Given the description of an element on the screen output the (x, y) to click on. 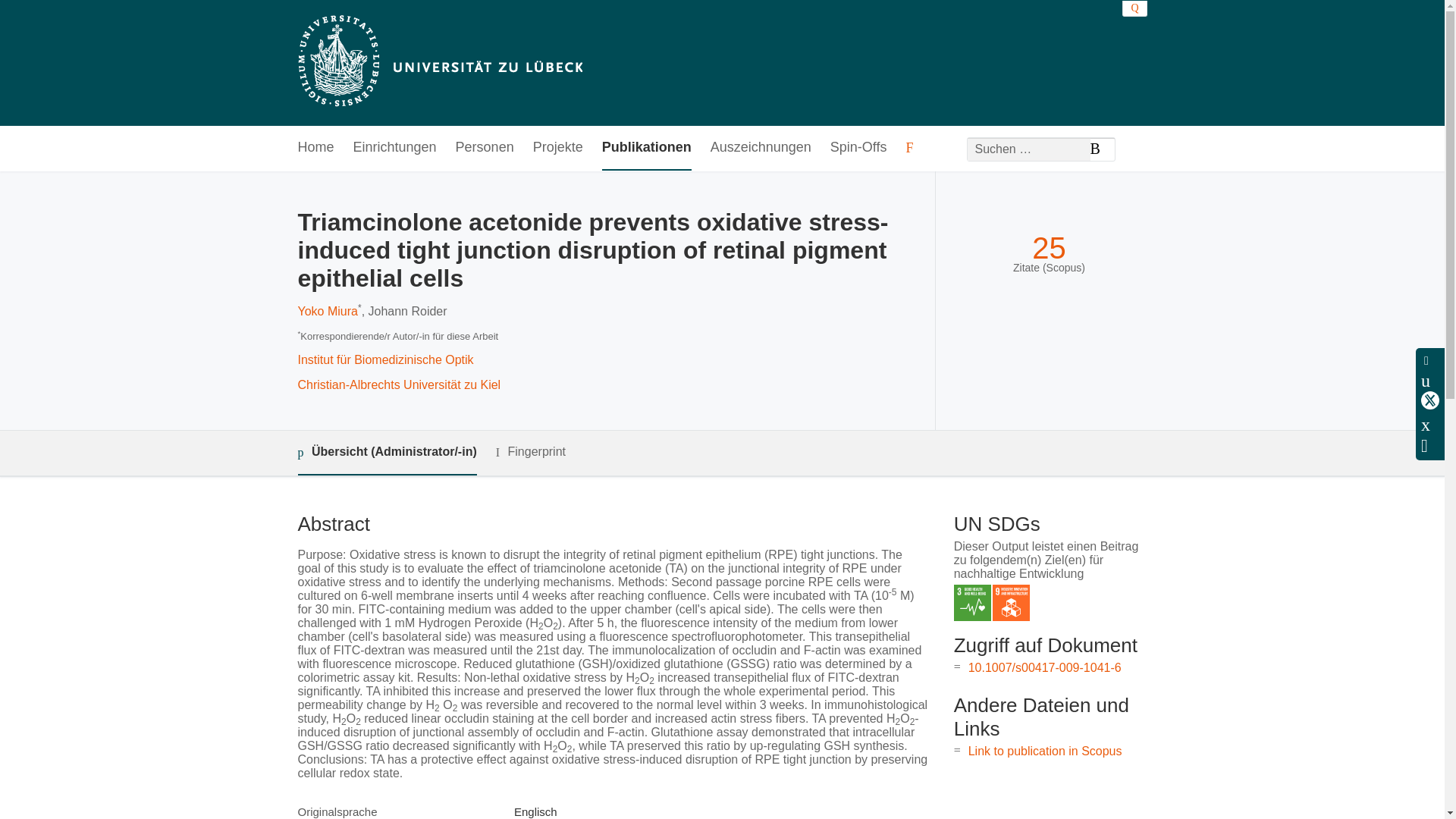
Fingerprint (531, 452)
Auszeichnungen (760, 148)
Einrichtungen (394, 148)
Link to publication in Scopus (1045, 750)
Yoko Miura (326, 310)
Publikationen (646, 148)
Spin-Offs (857, 148)
25 (1048, 248)
Personen (484, 148)
Projekte (557, 148)
